Given the description of an element on the screen output the (x, y) to click on. 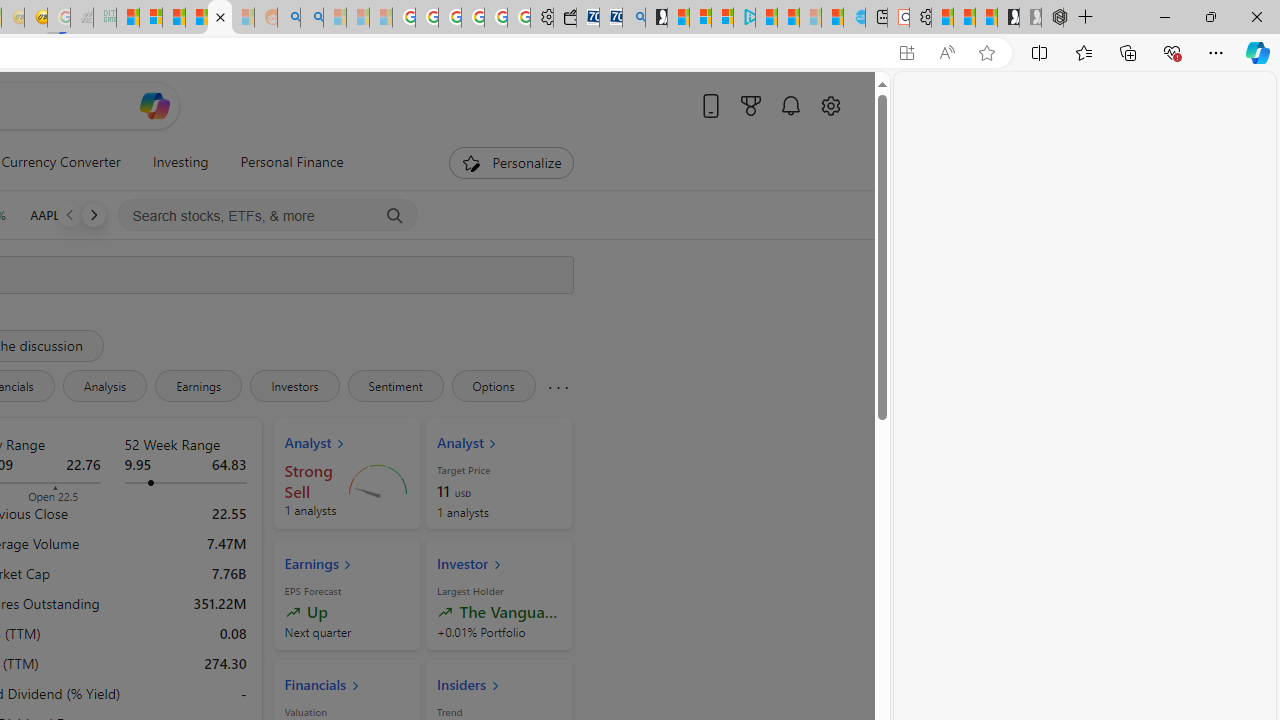
Microsoft account | Privacy (722, 17)
Previous (69, 214)
Notifications (790, 105)
Microsoft Start - Sleeping (810, 17)
Investing (180, 162)
DITOGAMES AG Imprint - Sleeping (104, 17)
Home | Sky Blue Bikes - Sky Blue Bikes (854, 17)
Analysis (104, 385)
